Given the description of an element on the screen output the (x, y) to click on. 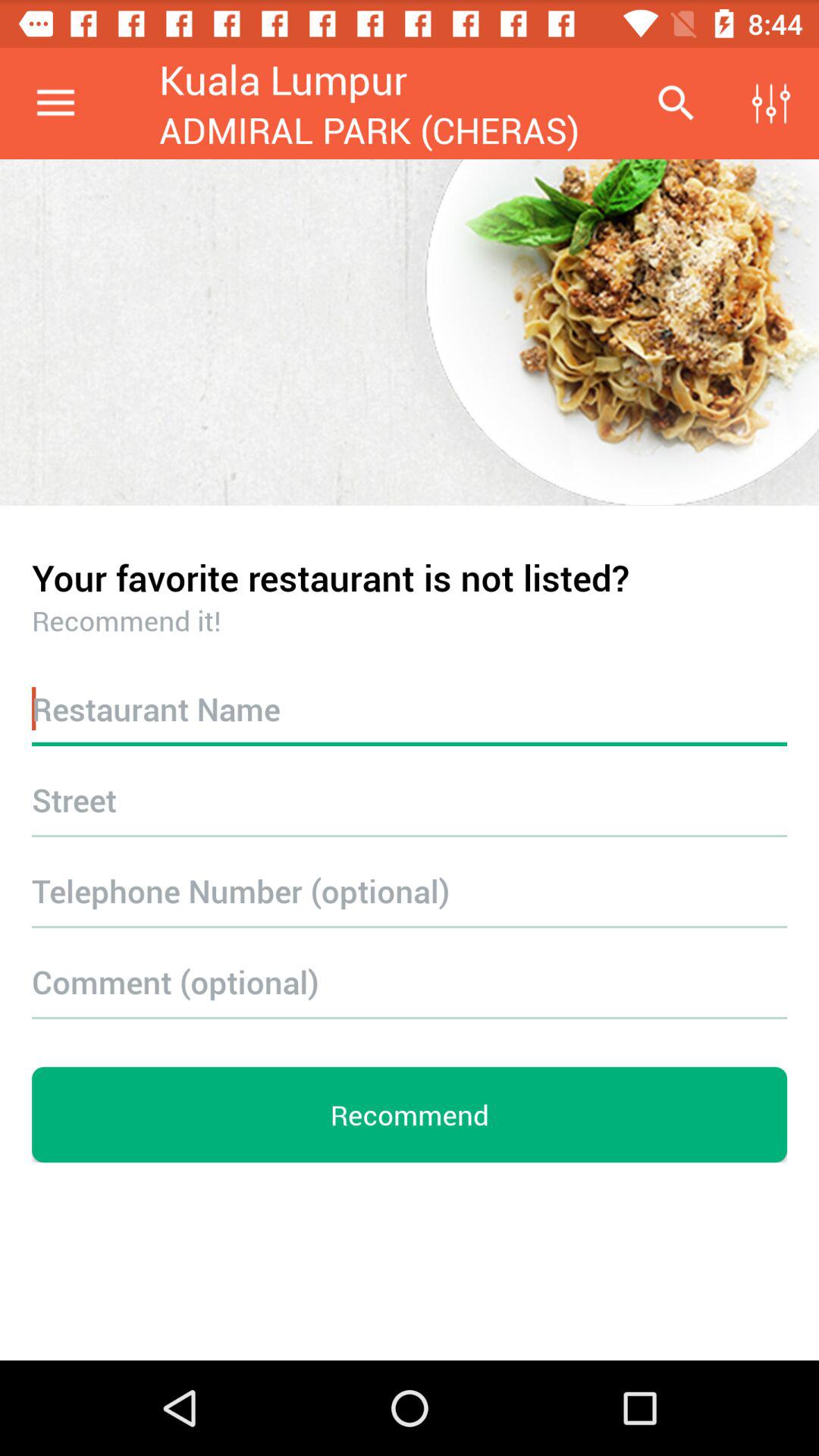
type a comment (409, 981)
